Given the description of an element on the screen output the (x, y) to click on. 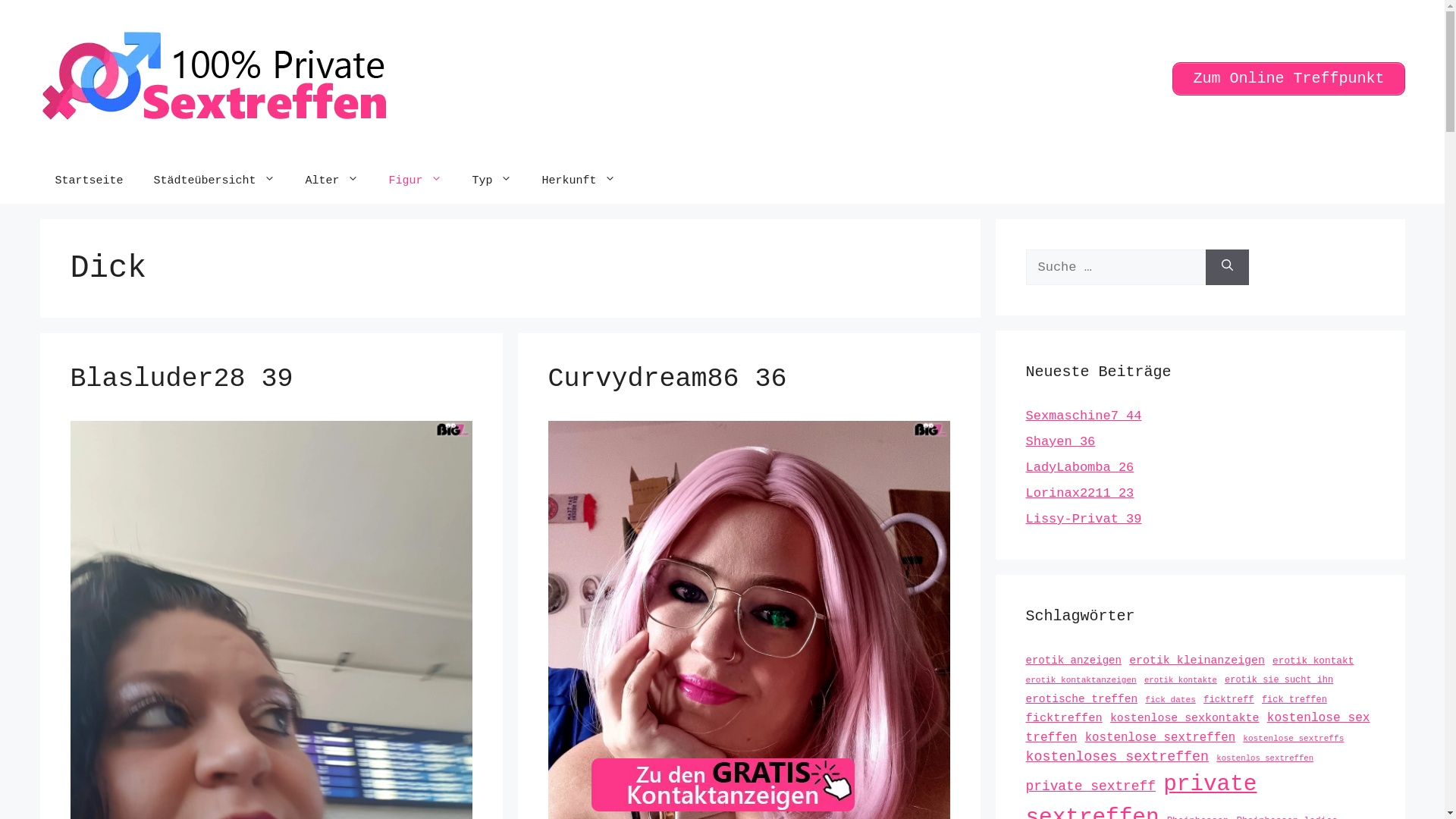
Zum Online Treffpunkt Element type: text (1288, 78)
kostenloses sextreffen Element type: text (1116, 756)
kostenlose sextreffs Element type: text (1292, 738)
Startseite Element type: text (88, 180)
erotik sie sucht ihn Element type: text (1278, 679)
kostenlose sextreffen Element type: text (1160, 737)
Figur Element type: text (415, 180)
erotik anzeigen Element type: text (1072, 659)
private sextreff Element type: text (1089, 785)
erotik kontakt Element type: text (1312, 660)
kostenlose sex treffen Element type: text (1197, 727)
fick treffen Element type: text (1294, 699)
kostenlose sexkontakte Element type: text (1184, 718)
Blasluder28 39 Element type: text (180, 379)
Suche nach: Element type: hover (1114, 266)
Herkunft Element type: text (578, 180)
LadyLabomba 26 Element type: text (1079, 467)
erotik kontakte Element type: text (1180, 679)
fick dates Element type: text (1170, 698)
Lorinax2211 23 Element type: text (1079, 493)
erotische treffen Element type: text (1081, 699)
Lissy-Privat 39 Element type: text (1083, 518)
Curvydream86 36 Element type: text (666, 379)
Typ Element type: text (492, 180)
Shayen 36 Element type: text (1060, 441)
erotik kontaktanzeigen Element type: text (1080, 679)
kostenlos sextreffen Element type: text (1264, 757)
erotik kleinanzeigen Element type: text (1196, 659)
ficktreff Element type: text (1228, 699)
Sexmaschine7 44 Element type: text (1083, 415)
ficktreffen Element type: text (1063, 717)
Alter Element type: text (331, 180)
